Given the description of an element on the screen output the (x, y) to click on. 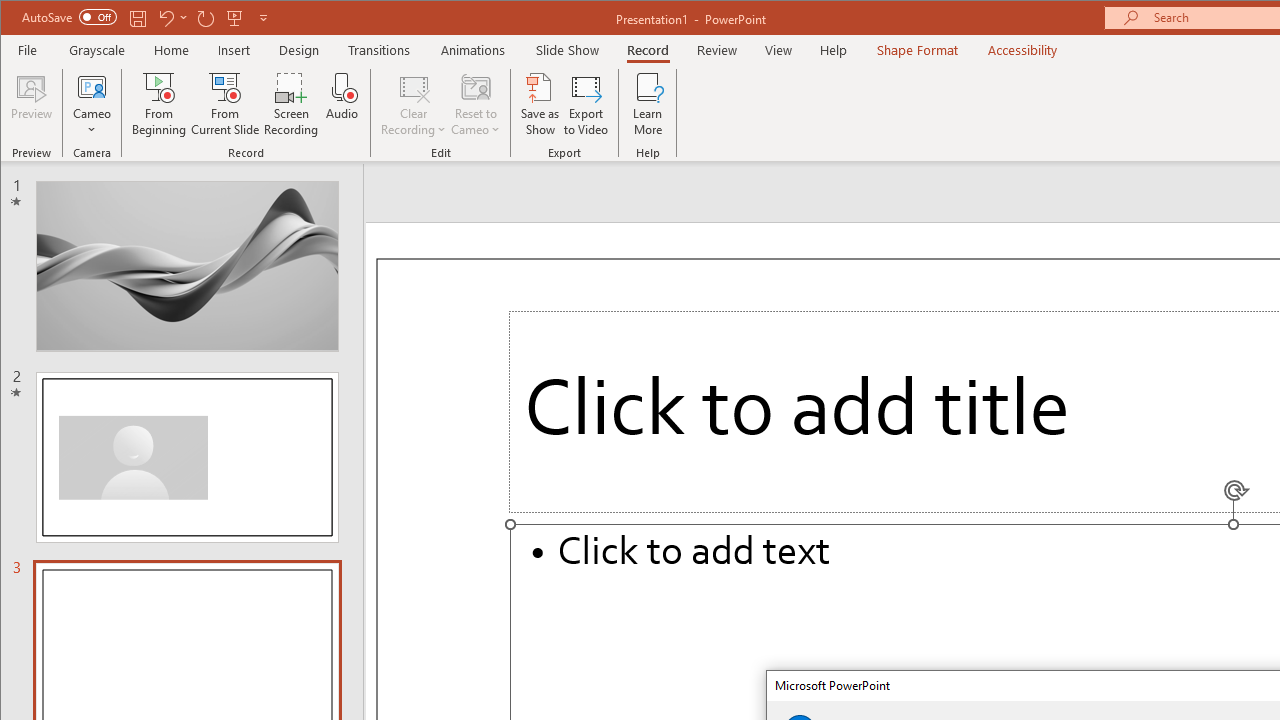
Clear Recording (413, 104)
From Beginning... (159, 104)
Save as Show (539, 104)
